Given the description of an element on the screen output the (x, y) to click on. 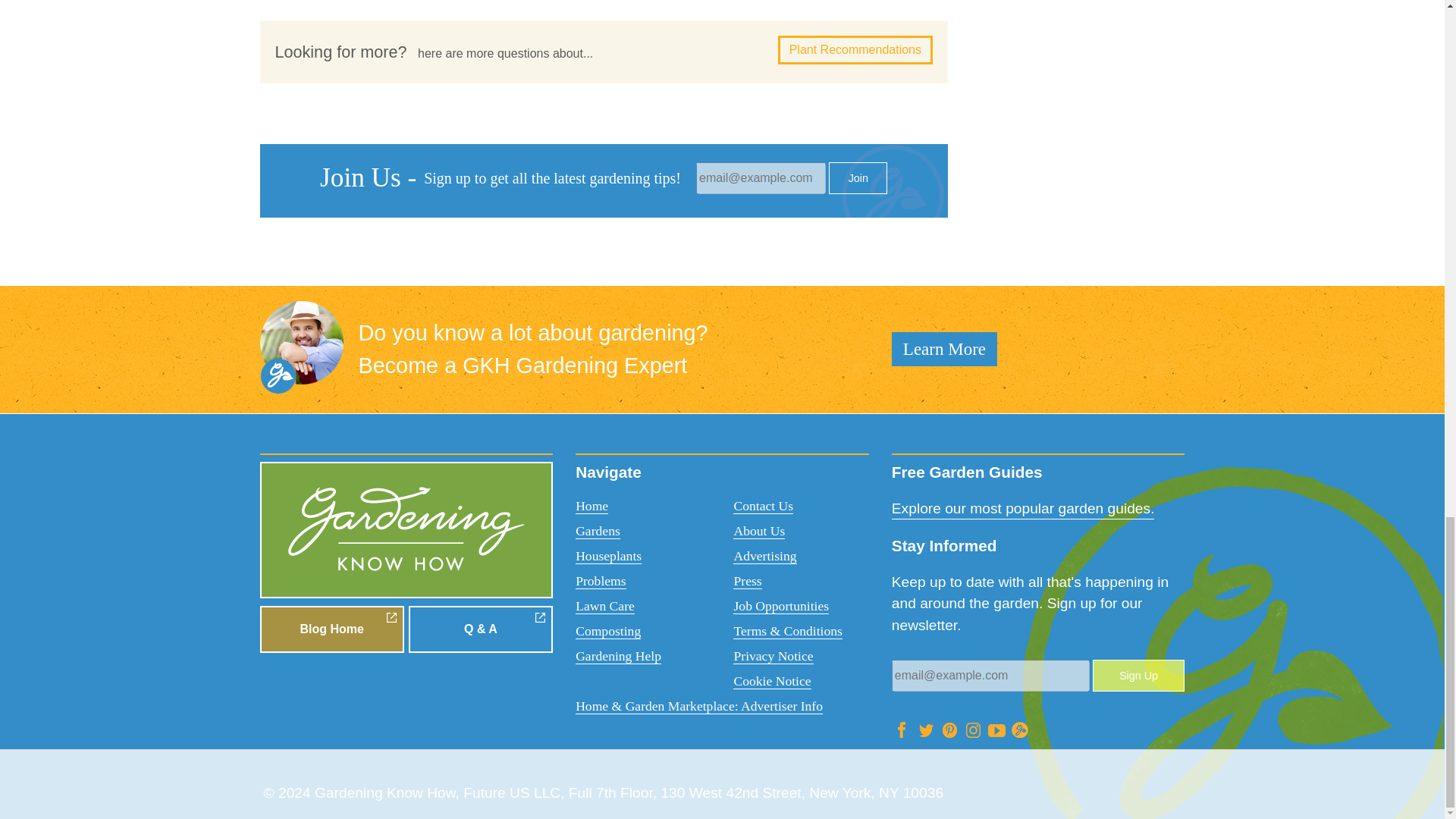
Join (857, 178)
Plant Recommendations (855, 50)
